Given the description of an element on the screen output the (x, y) to click on. 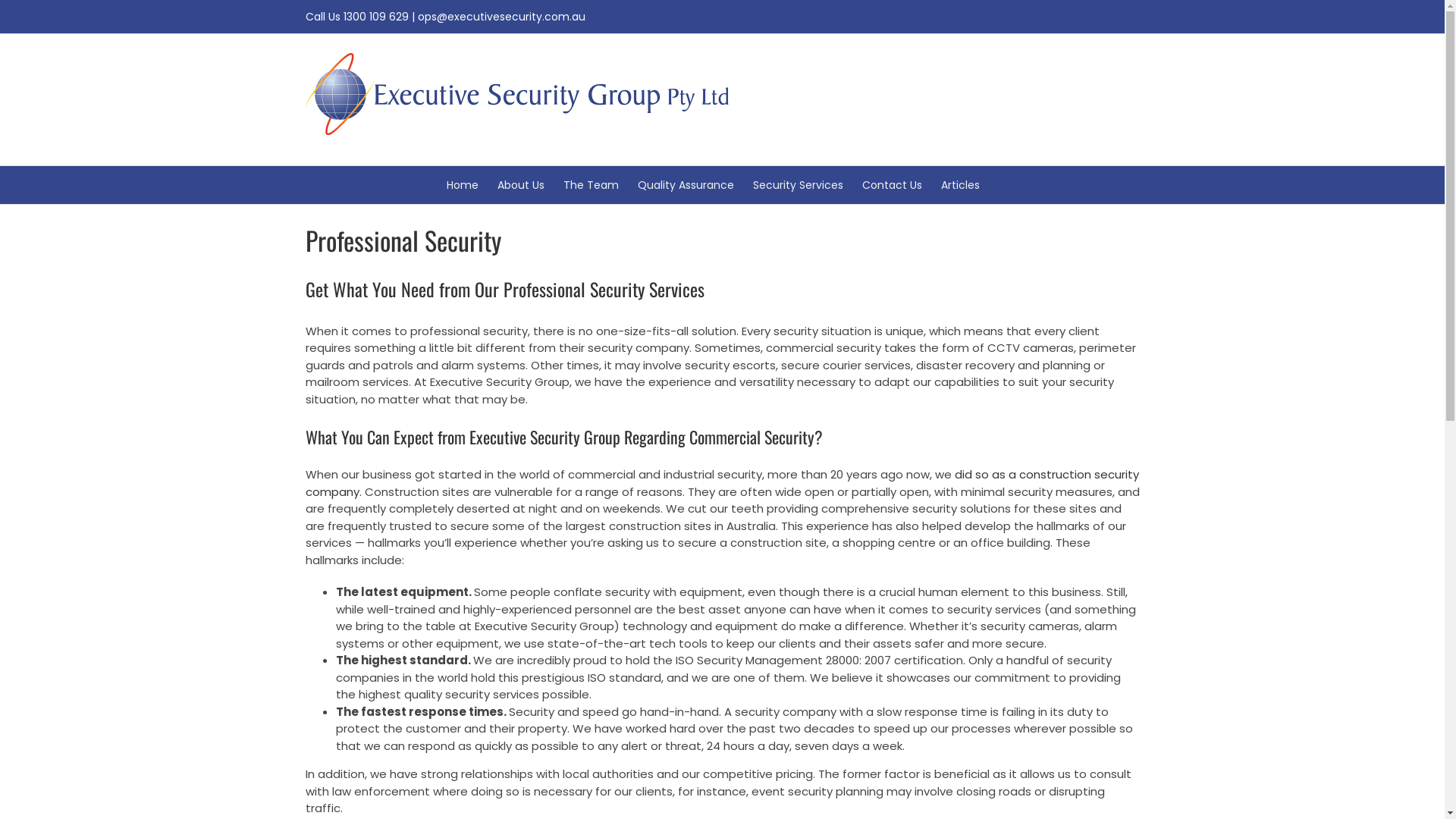
did so as a construction security company Element type: text (721, 482)
About Us Element type: text (520, 184)
Articles Element type: text (959, 184)
Security Services Element type: text (797, 184)
Home Element type: text (461, 184)
Call Us 1300 109 629 Element type: text (355, 16)
The Team Element type: text (590, 184)
Quality Assurance Element type: text (685, 184)
Contact Us Element type: text (891, 184)
ops@executivesecurity.com.au Element type: text (500, 16)
